Given the description of an element on the screen output the (x, y) to click on. 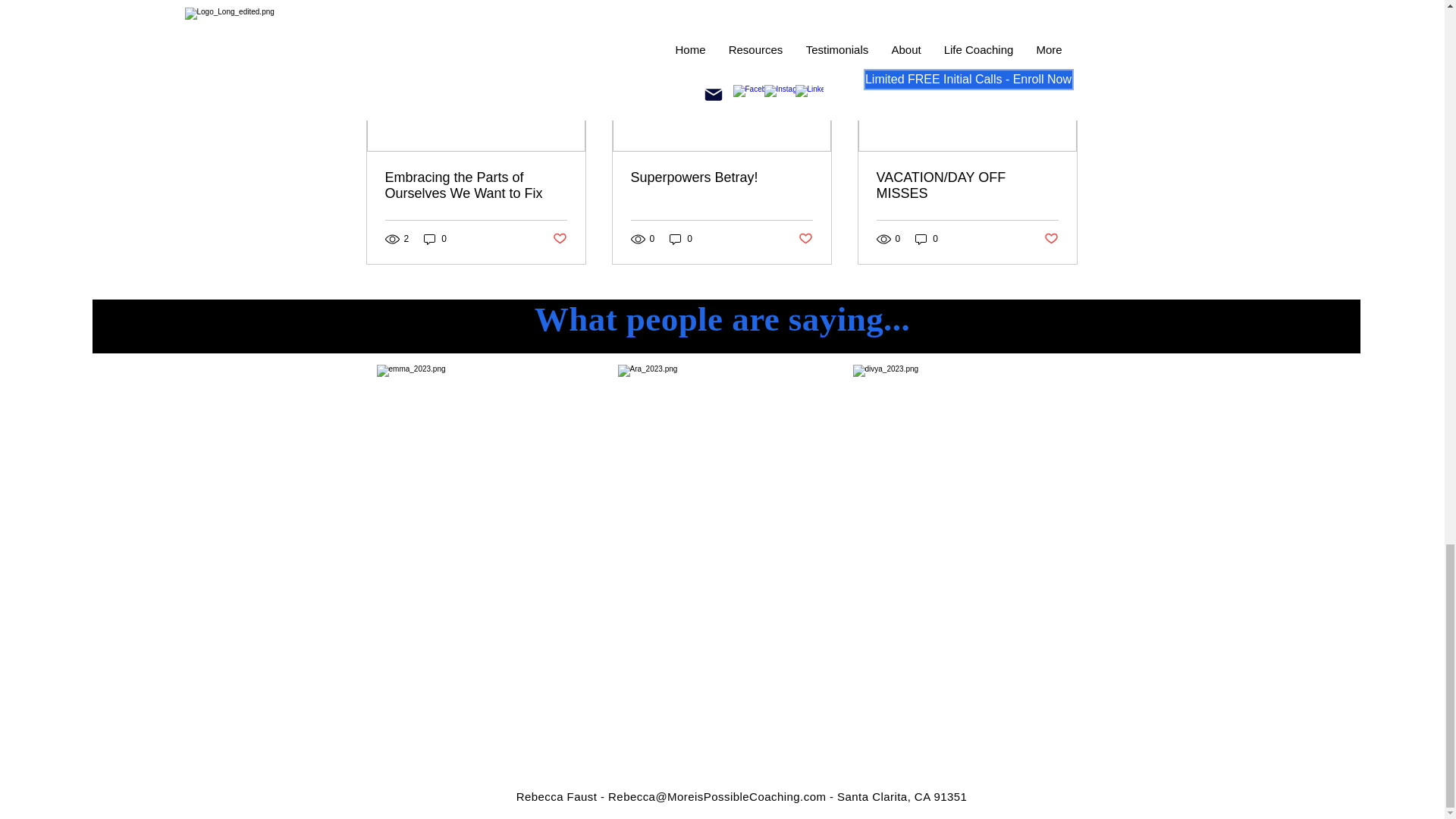
Embracing the Parts of Ourselves We Want to Fix (476, 185)
See All (1061, 6)
